Given the description of an element on the screen output the (x, y) to click on. 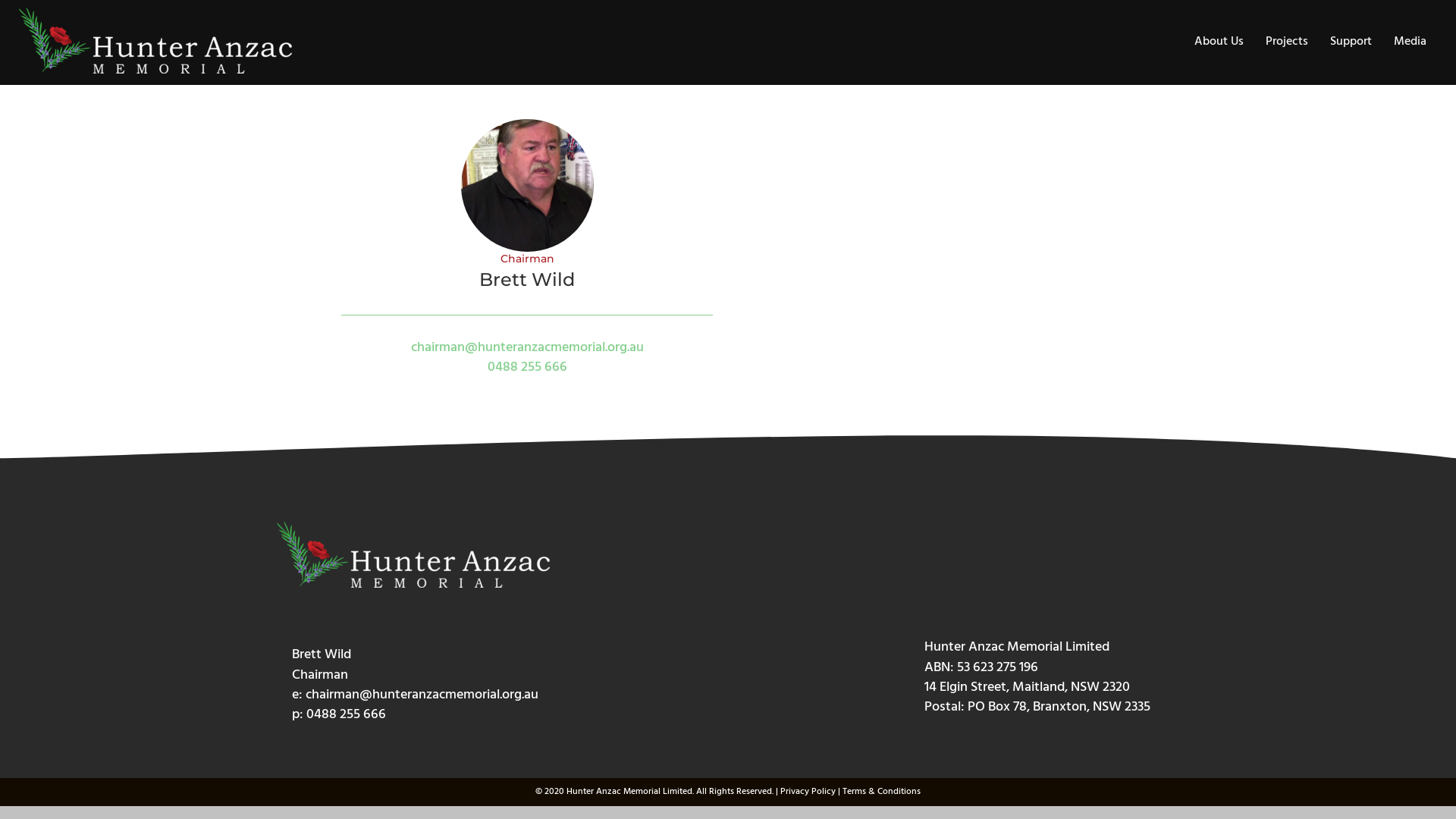
Hunter Anzac Memorial_Horizontal_Black Element type: hover (412, 554)
About Us Element type: text (1218, 41)
Brett Wild Element type: hover (527, 185)
Media Element type: text (1410, 41)
0488 255 666 Element type: text (526, 367)
Support Element type: text (1350, 41)
Terms & Conditions Element type: text (881, 791)
Privacy Policy Element type: text (807, 791)
chairman@hunteranzacmemorial.org.au Element type: text (527, 347)
Projects Element type: text (1286, 41)
Hunter Anzac Memorial_Horizontal_Black Element type: hover (154, 40)
